Given the description of an element on the screen output the (x, y) to click on. 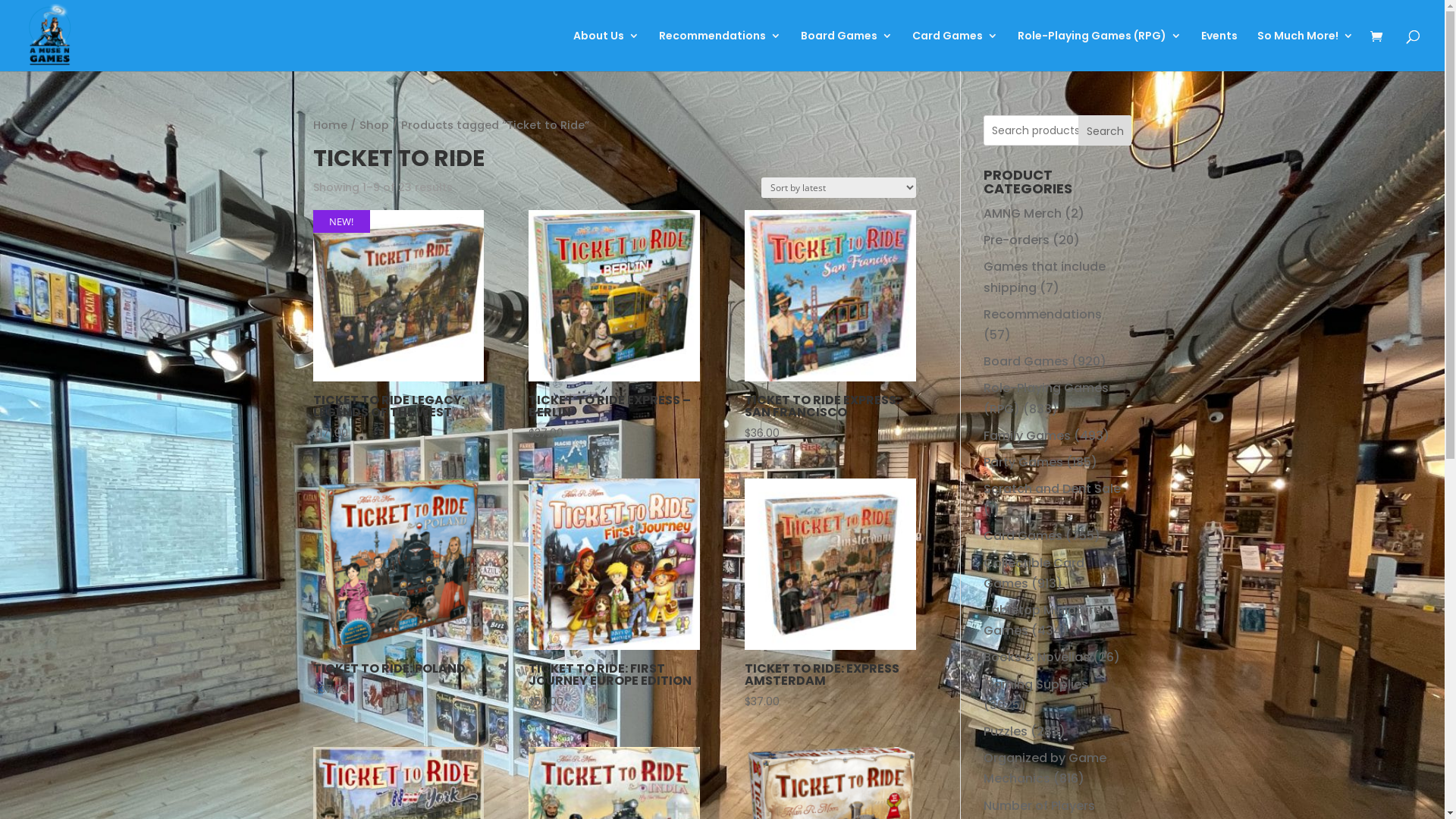
Number of Players Element type: text (1039, 804)
Puzzles Element type: text (1005, 731)
Recommendations Element type: text (719, 50)
Organized by Game Mechanics Element type: text (1044, 768)
AMNG Merch Element type: text (1022, 213)
TICKET TO RIDE: FIRST JOURNEY EUROPE EDITION
$50.00 Element type: text (613, 594)
Role-Playing Games (RPG) Element type: text (1045, 398)
Card Games Element type: text (1022, 535)
TICKET TO RIDE: POLAND
$37.00 Element type: text (397, 588)
Search Element type: text (1105, 130)
Home Element type: text (329, 124)
Family Games Element type: text (1026, 435)
NEW!
TICKET TO RIDE LEGACY: LEGENDS OF THE WEST
$171.00 Element type: text (397, 326)
Games that include shipping Element type: text (1044, 276)
TICKET TO RIDE: EXPRESS AMSTERDAM
$37.00 Element type: text (829, 594)
Books & Novellas Element type: text (1036, 656)
Scratch and Dent Sale Element type: text (1051, 488)
Tabletop Miniature Games Element type: text (1042, 620)
Gaming Supplies Element type: text (1035, 684)
Board Games Element type: text (846, 50)
Board Games Element type: text (1025, 361)
Shop Element type: text (374, 124)
Recommendations Element type: text (1042, 314)
Collectible Card Games Element type: text (1033, 573)
TICKET TO RIDE EXPRESS: SAN FRANCISCO
$36.00 Element type: text (829, 326)
Events Element type: text (1219, 50)
About Us Element type: text (606, 50)
So Much More! Element type: text (1305, 50)
Card Games Element type: text (954, 50)
Pre-orders Element type: text (1016, 239)
Role-Playing Games (RPG) Element type: text (1099, 50)
Party Games Element type: text (1023, 461)
